Given the description of an element on the screen output the (x, y) to click on. 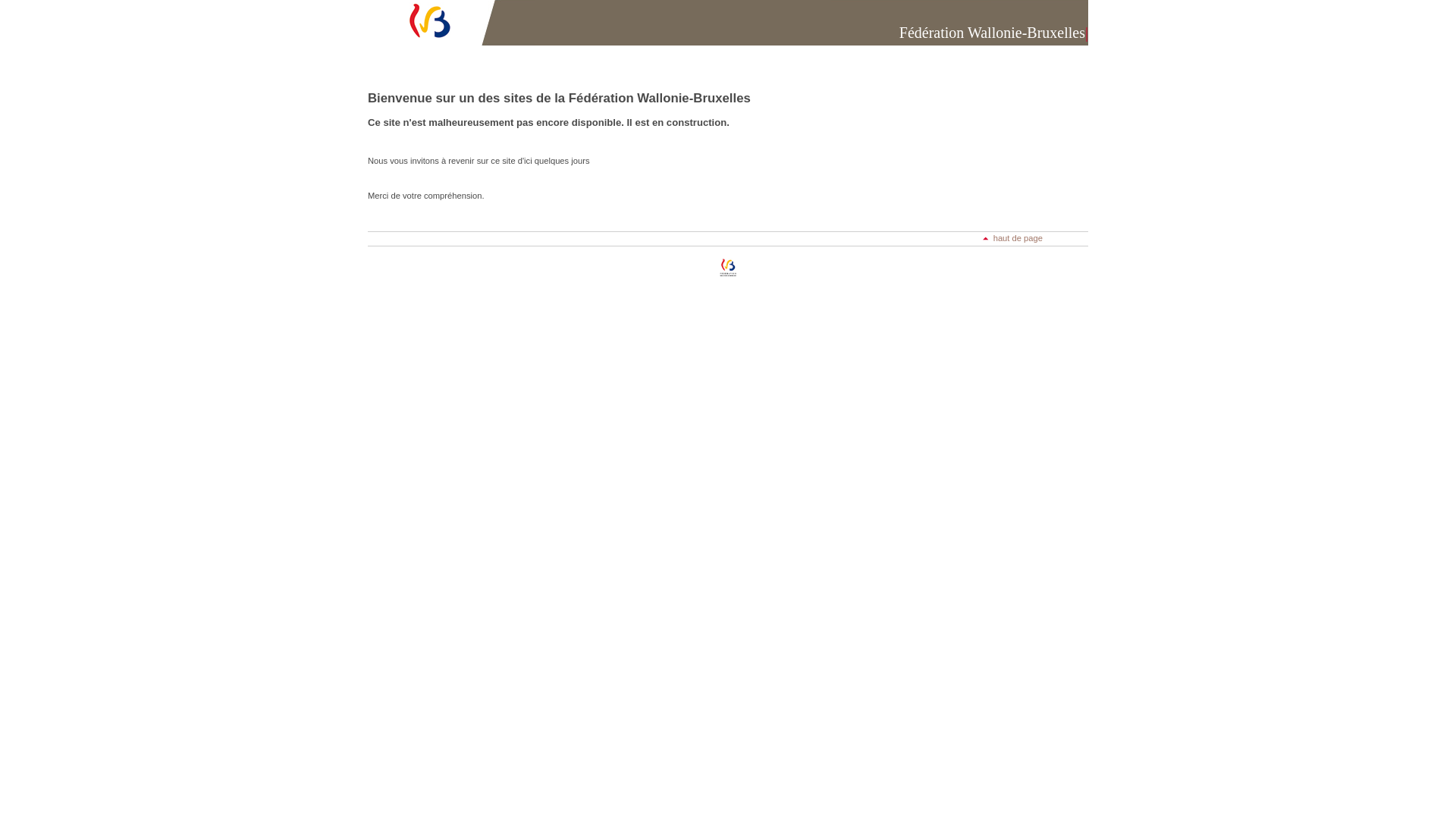
haut de page Element type: text (1012, 237)
